Given the description of an element on the screen output the (x, y) to click on. 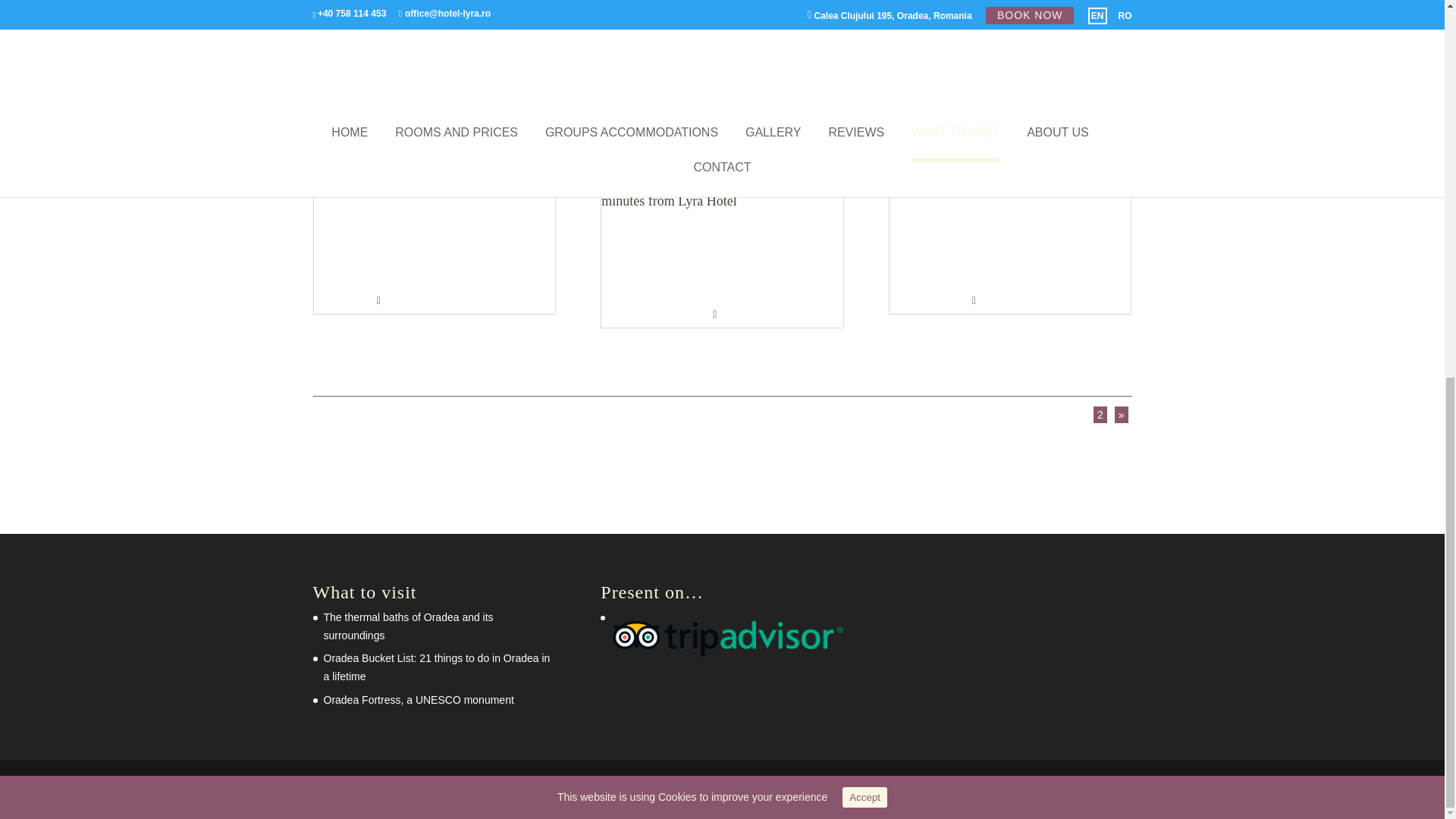
What can you do on a weekend in Oradea? (431, 186)
Aquapark Nymphaea in Oradea, just 5 minutes from Lyra Hotel (705, 193)
INK9 CREATIVE AGENCY (582, 789)
